Given the description of an element on the screen output the (x, y) to click on. 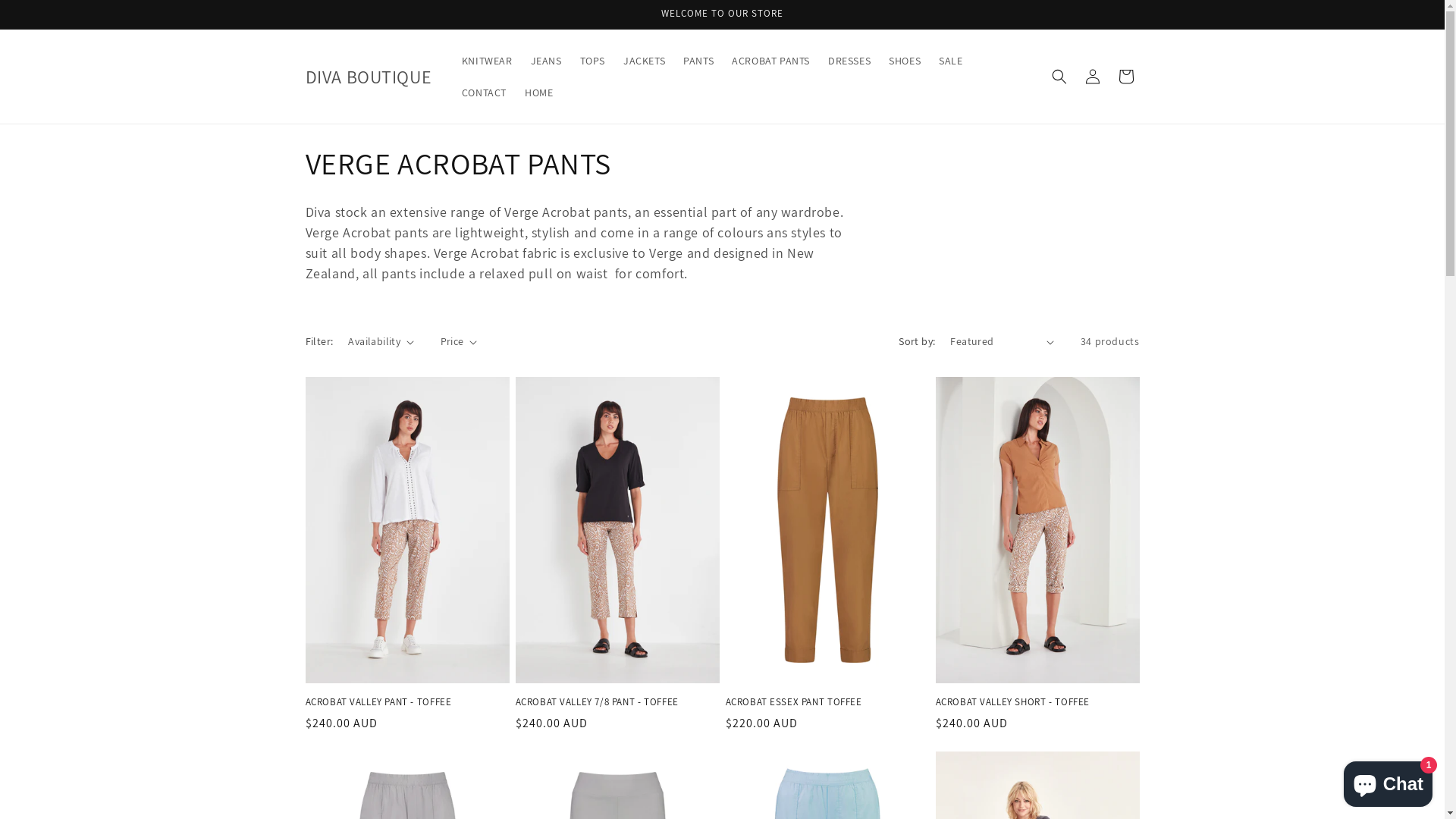
JACKETS Element type: text (644, 60)
TOPS Element type: text (592, 60)
ACROBAT VALLEY SHORT - TOFFEE Element type: text (1037, 702)
JEANS Element type: text (546, 60)
Cart Element type: text (1125, 76)
ACROBAT ESSEX PANT TOFFEE Element type: text (826, 702)
SHOES Element type: text (904, 60)
SALE Element type: text (950, 60)
Shopify online store chat Element type: hover (1388, 780)
PANTS Element type: text (698, 60)
ACROBAT VALLEY PANT - TOFFEE Element type: text (406, 702)
DIVA BOUTIQUE Element type: text (368, 76)
DRESSES Element type: text (849, 60)
CONTACT Element type: text (483, 92)
Log in Element type: text (1091, 76)
KNITWEAR Element type: text (486, 60)
ACROBAT VALLEY 7/8 PANT - TOFFEE Element type: text (617, 702)
HOME Element type: text (538, 92)
ACROBAT PANTS Element type: text (770, 60)
